Given the description of an element on the screen output the (x, y) to click on. 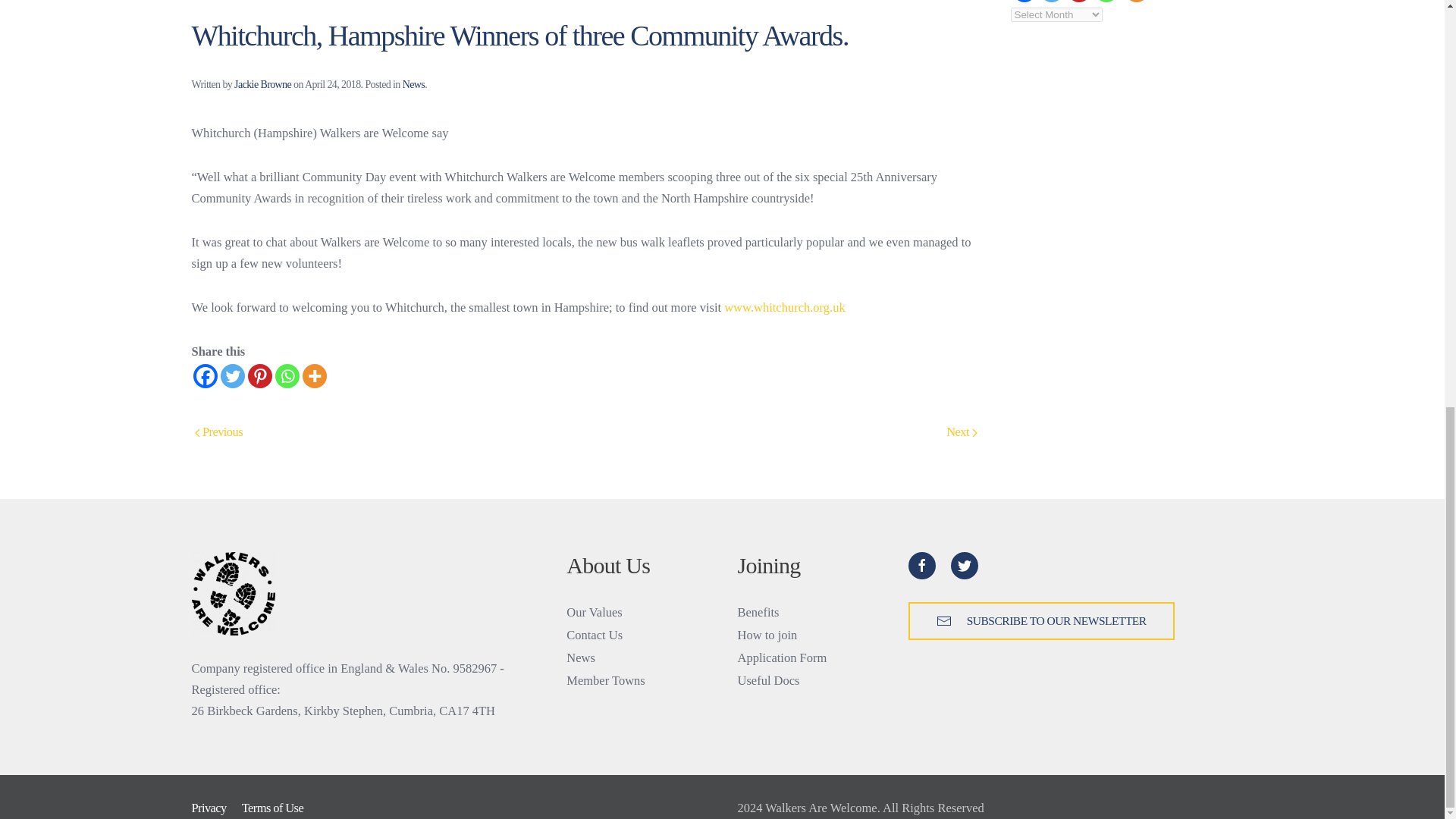
Whatsapp (286, 375)
Pinterest (258, 375)
Pinterest (1077, 1)
More (313, 375)
Twitter (1050, 1)
More (1136, 1)
Facebook (204, 375)
Facebook (1023, 1)
Whatsapp (1105, 1)
Subscribe (1041, 620)
Twitter (231, 375)
